Given the description of an element on the screen output the (x, y) to click on. 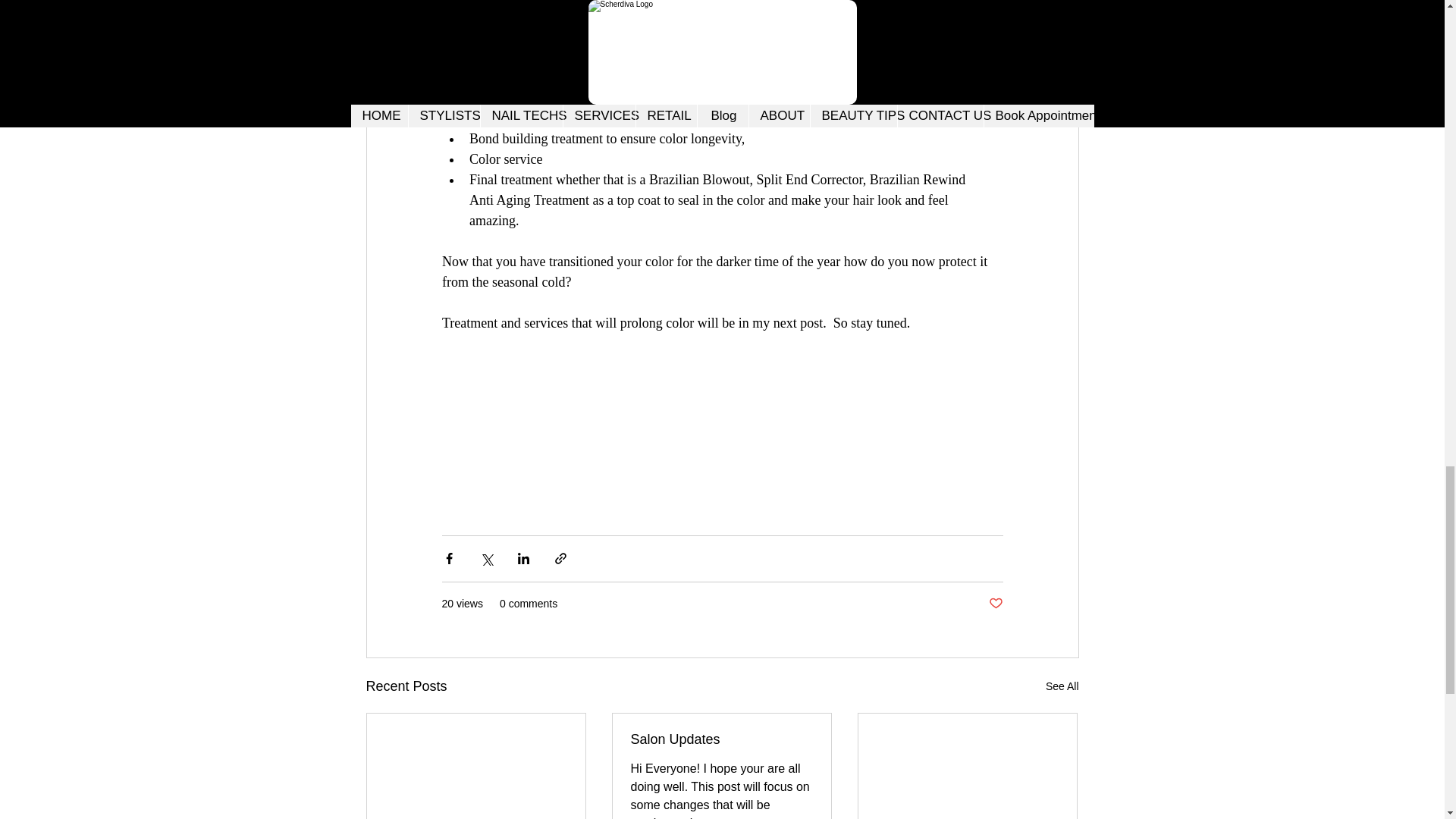
Salon Updates (721, 739)
Post not marked as liked (995, 603)
See All (1061, 686)
